Given the description of an element on the screen output the (x, y) to click on. 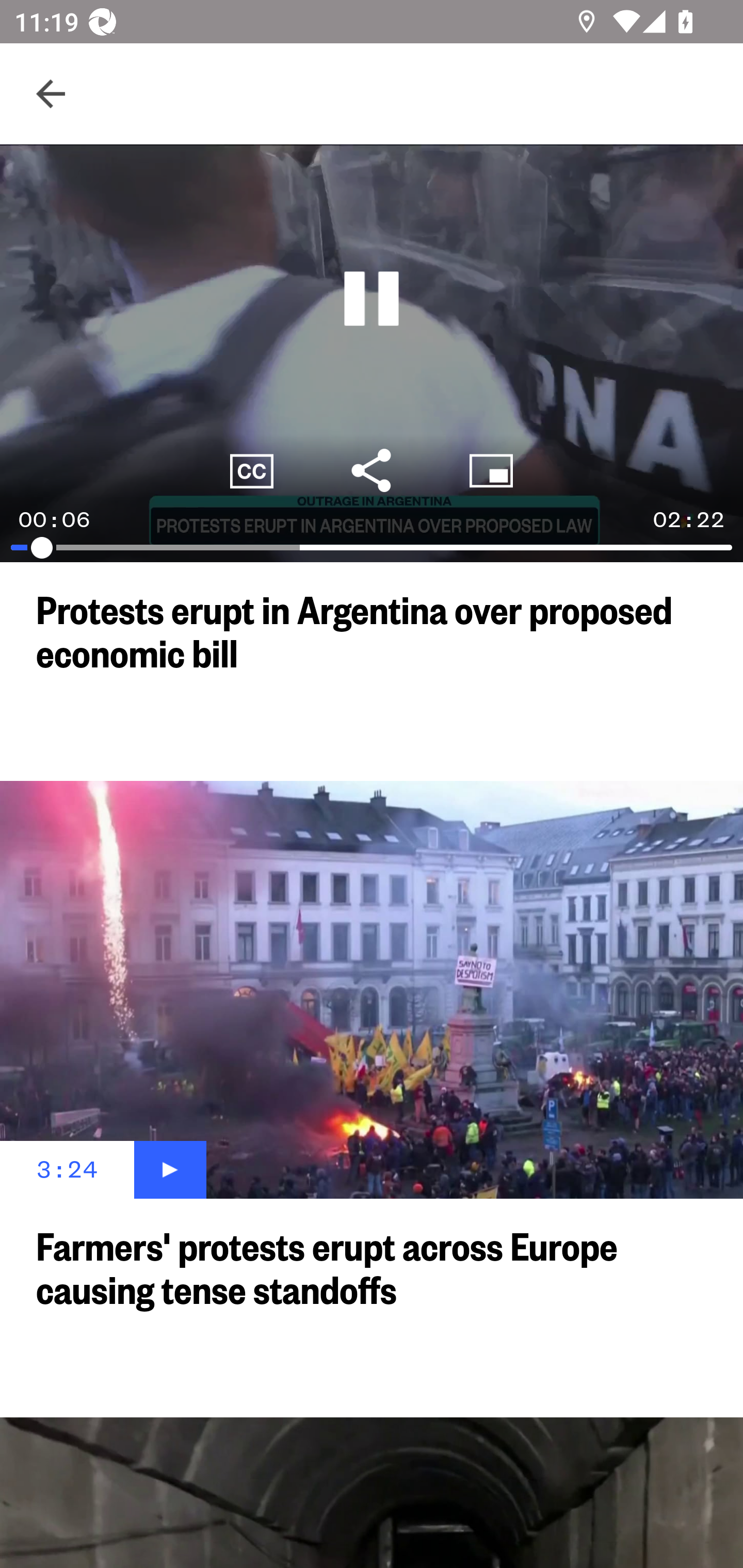
Navigate up (50, 93)
Pause (371, 298)
Closed Captions, ON (251, 470)
Share Media (371, 470)
Picture in Picture Media (490, 470)
